Given the description of an element on the screen output the (x, y) to click on. 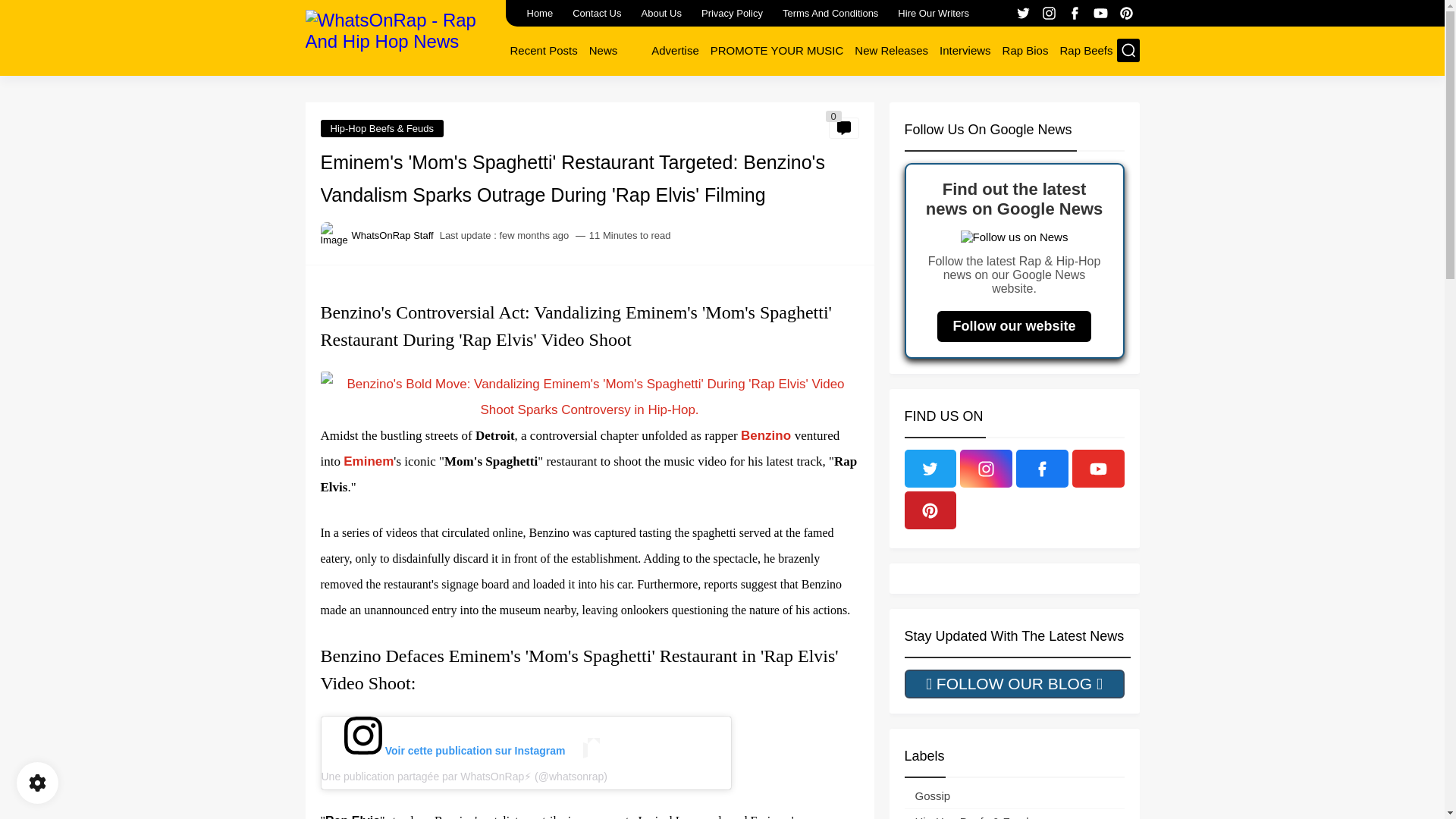
Home (539, 12)
News (603, 50)
PROMOTE YOUR MUSIC (777, 50)
New Releases (891, 50)
facebook (1074, 13)
WhatsOnRap - Rap And Hip Hop News (399, 36)
New Releases (891, 50)
Rap Bios (1025, 50)
PROMOTE YOUR MUSIC (777, 50)
About Us (660, 12)
Eminem (368, 461)
Interviews (965, 50)
twitter (1023, 13)
Recent Posts (542, 50)
Recent Posts (542, 50)
